Given the description of an element on the screen output the (x, y) to click on. 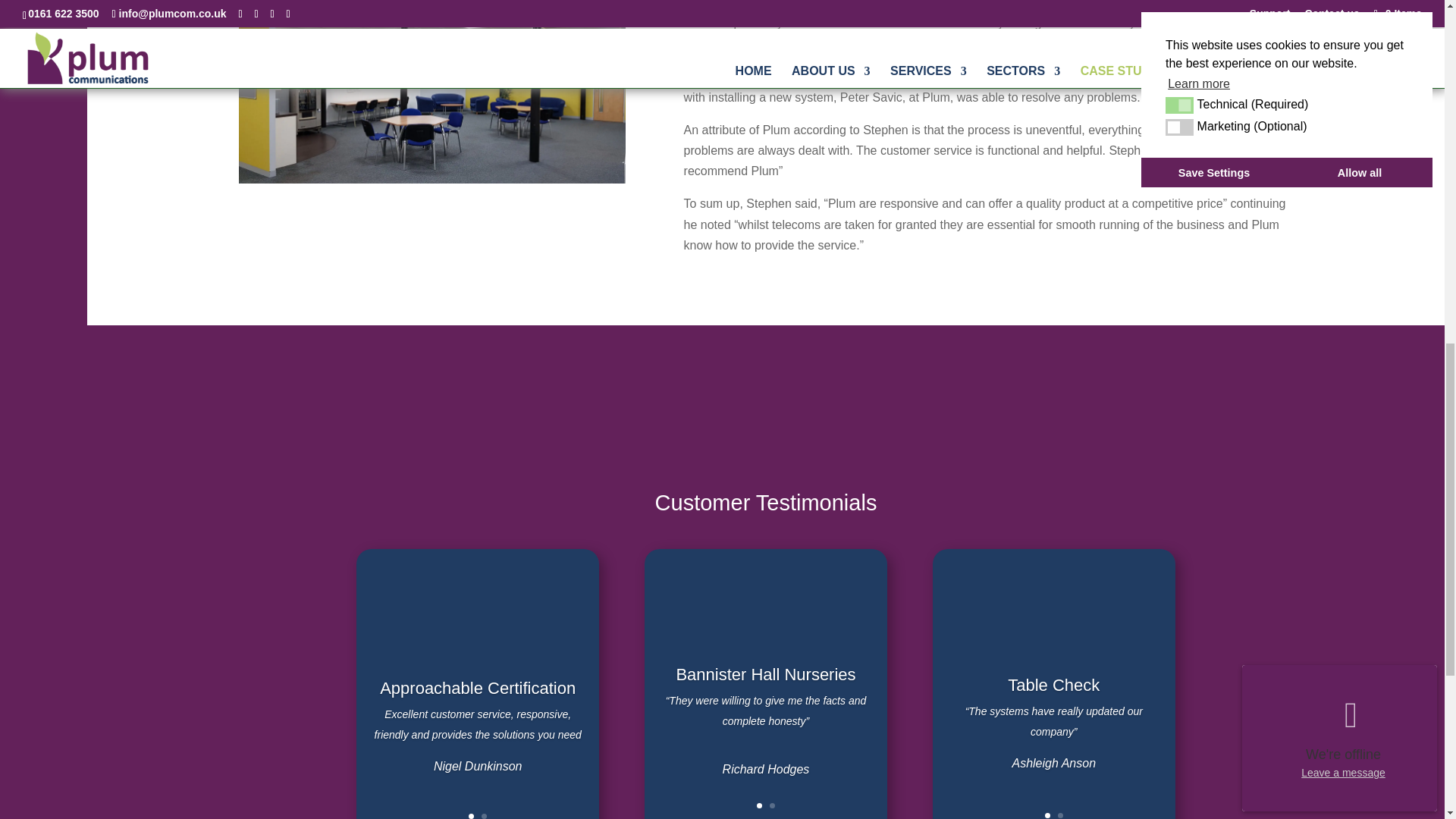
END-Break-Out-Area (432, 91)
